Given the description of an element on the screen output the (x, y) to click on. 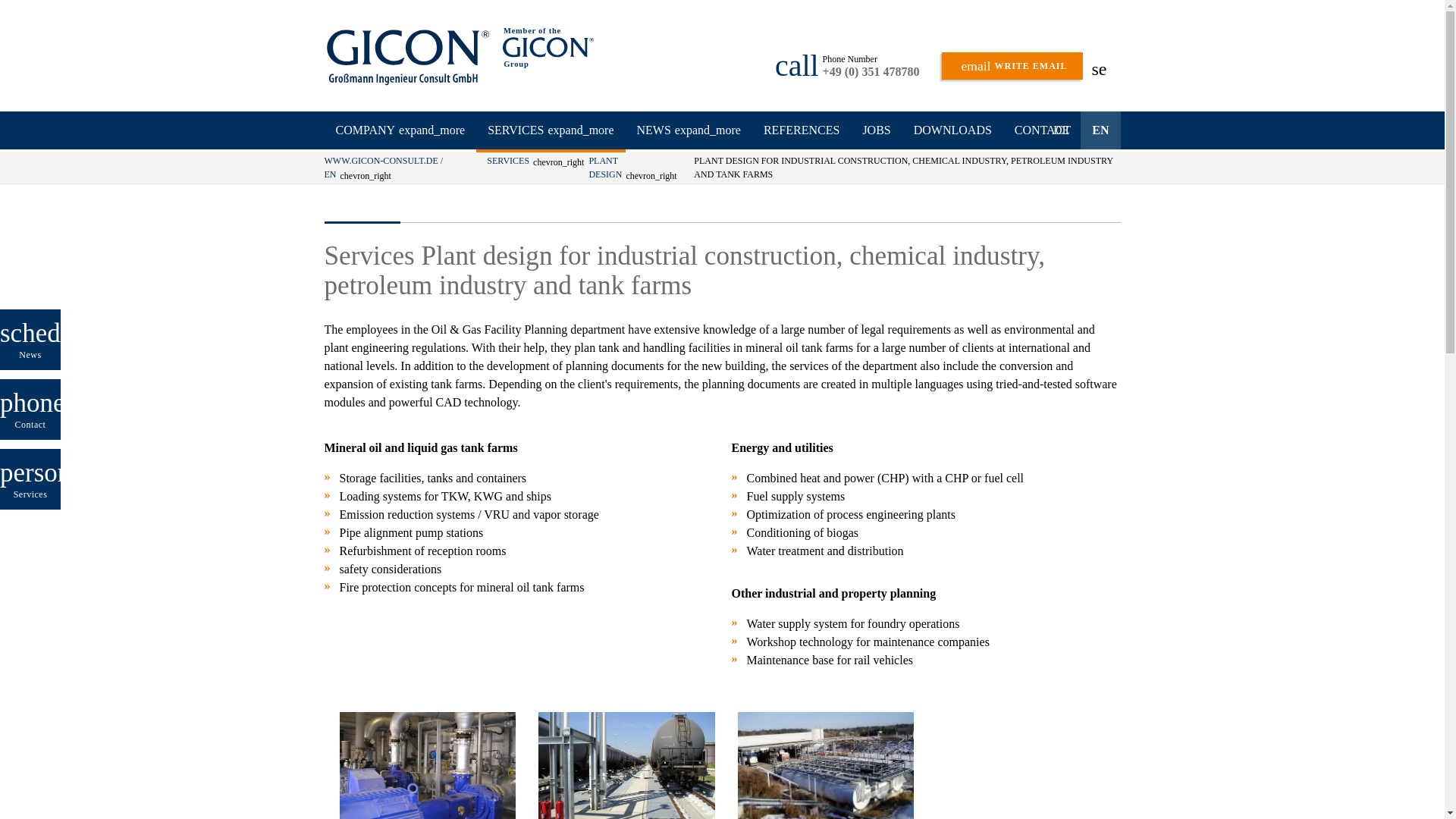
JOBS (875, 130)
Downloads (952, 130)
DE (1061, 130)
CONTACT (1042, 130)
search (1115, 70)
DOWNLOADS (952, 130)
Company (400, 130)
News (687, 130)
Leistungsschwerpunkte (1011, 65)
